Given the description of an element on the screen output the (x, y) to click on. 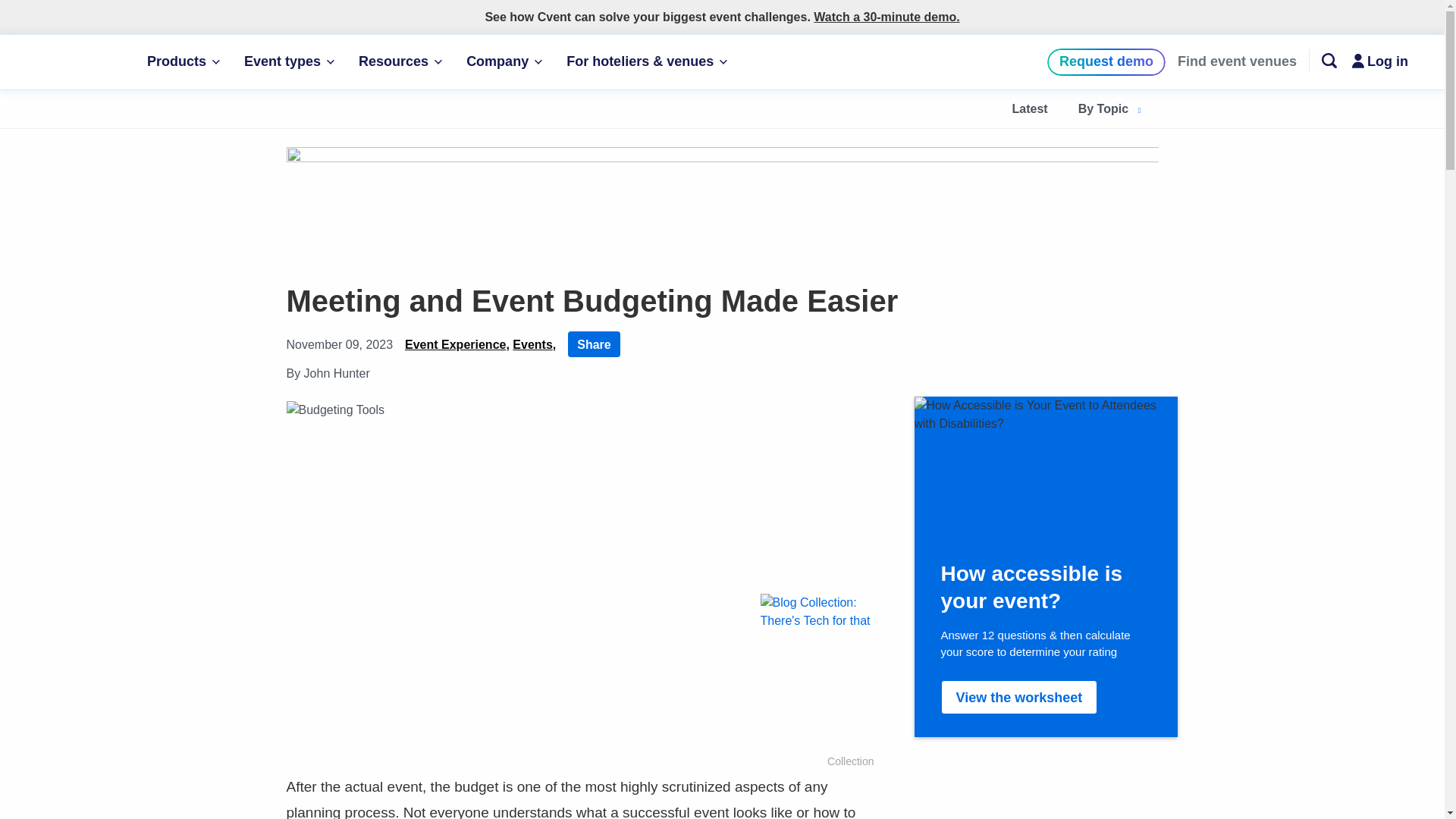
Products (183, 61)
Watch a 30-minute demo. (886, 16)
Event types (288, 61)
